Given the description of an element on the screen output the (x, y) to click on. 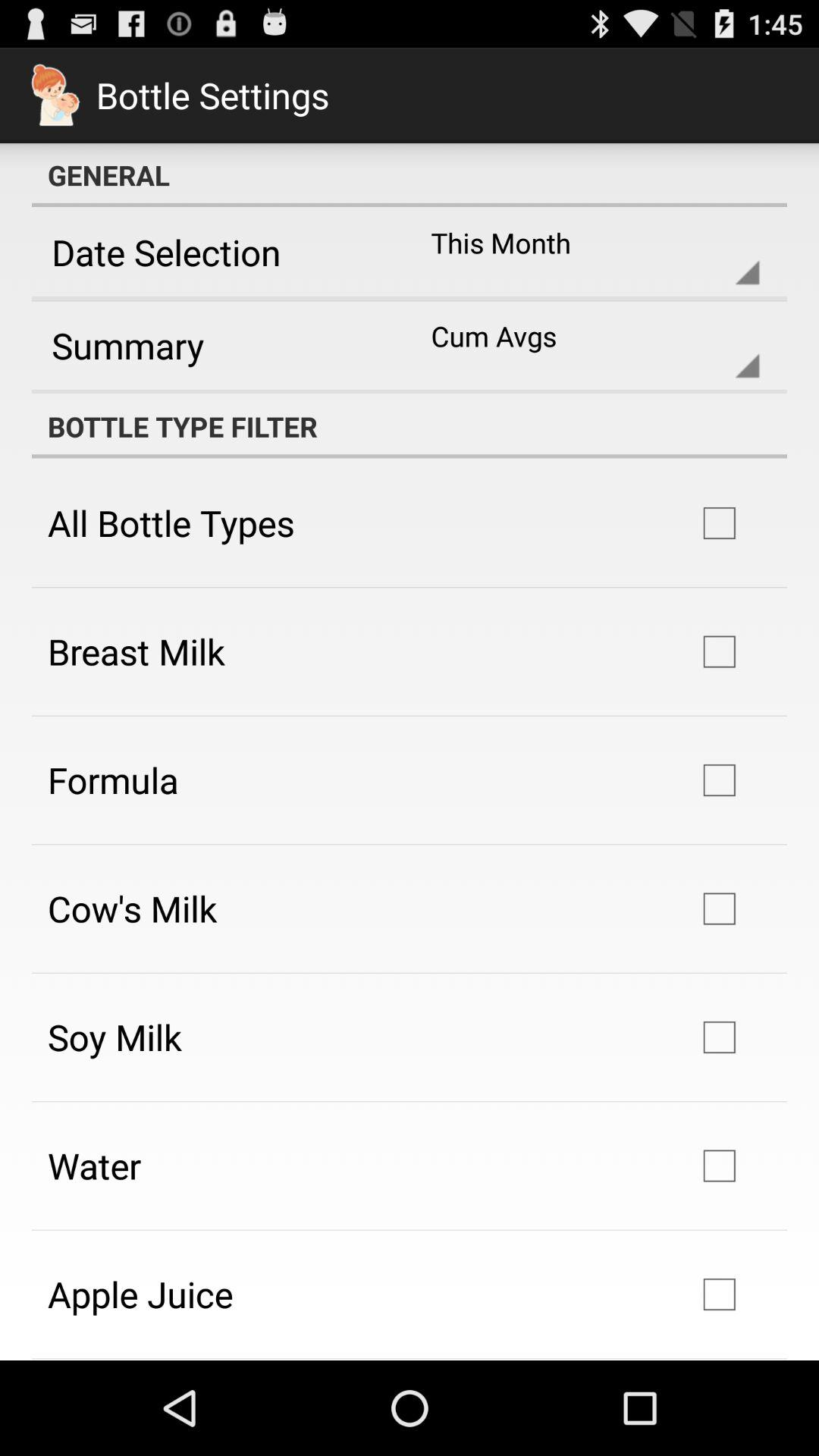
open the app below the formula icon (132, 908)
